Given the description of an element on the screen output the (x, y) to click on. 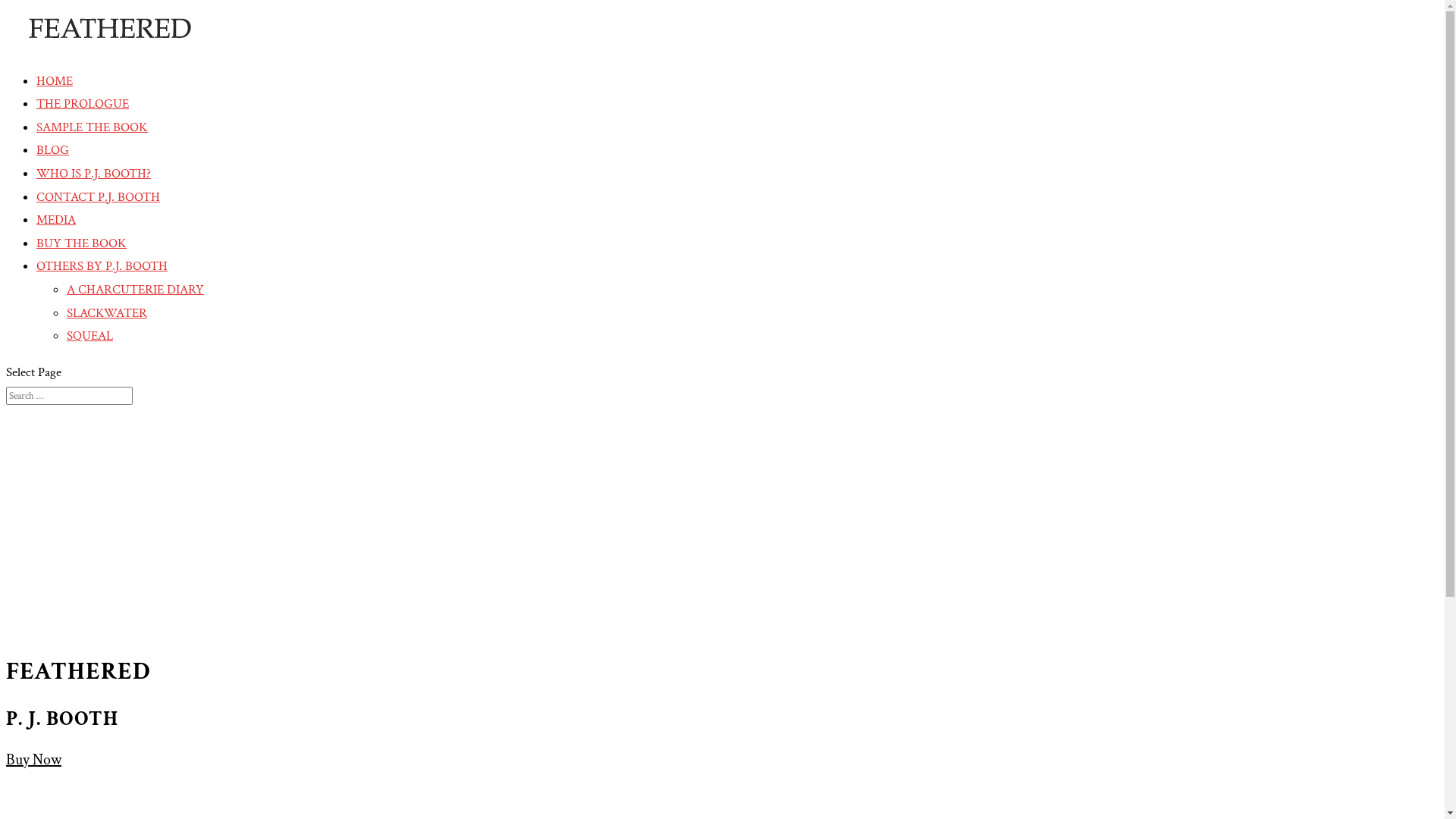
SAMPLE THE BOOK Element type: text (91, 127)
SLACKWATER Element type: text (106, 312)
BLOG Element type: text (52, 149)
HOME Element type: text (54, 80)
OTHERS BY P.J. BOOTH Element type: text (101, 265)
Buy Now Element type: text (33, 759)
Search for: Element type: hover (69, 395)
WHO IS P.J. BOOTH? Element type: text (93, 173)
BUY THE BOOK Element type: text (81, 243)
A CHARCUTERIE DIARY Element type: text (134, 289)
THE PROLOGUE Element type: text (82, 103)
SQUEAL Element type: text (89, 335)
MEDIA Element type: text (55, 219)
CONTACT P.J. BOOTH Element type: text (98, 196)
